Given the description of an element on the screen output the (x, y) to click on. 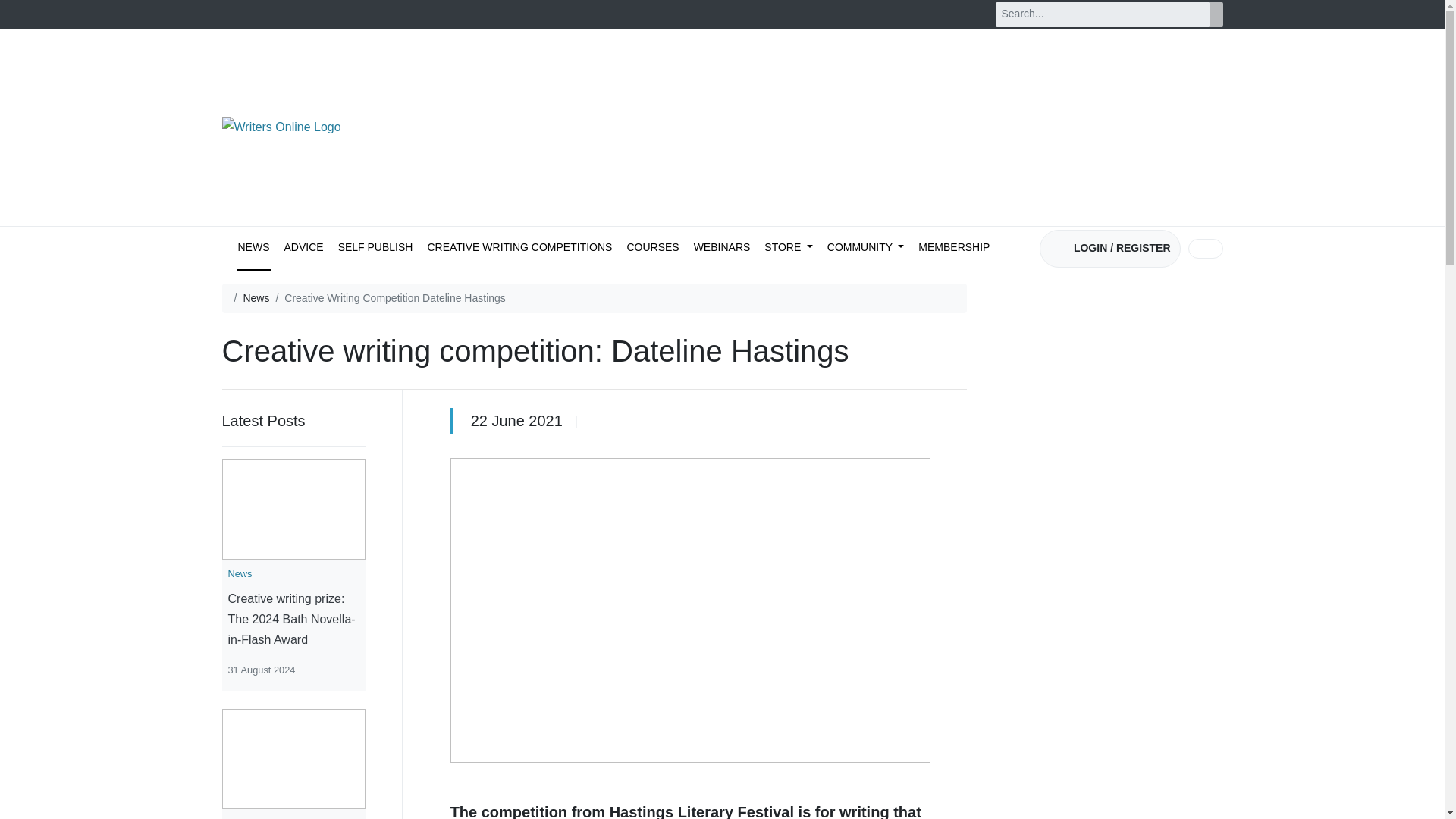
MEMBERSHIP (954, 248)
COURSES (651, 248)
SELF PUBLISH (375, 248)
WEBINARS (722, 248)
Creative writing prize: The 2024 Bath Novella-in-Flash Award (292, 619)
News (256, 298)
CREATIVE WRITING COMPETITIONS (518, 248)
STORE (787, 248)
COMMUNITY (865, 248)
ADVICE (303, 248)
